Given the description of an element on the screen output the (x, y) to click on. 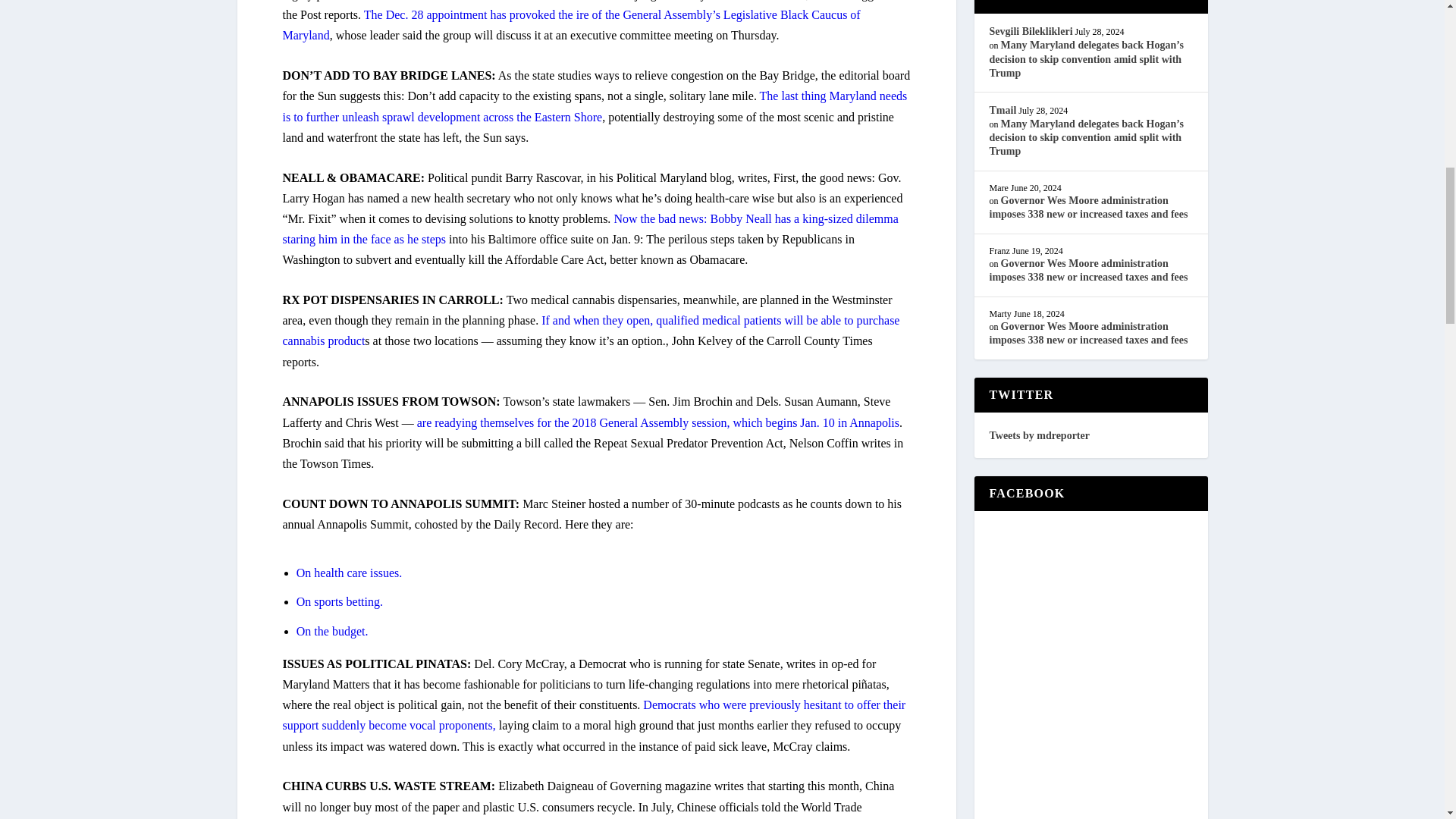
On sports betting. (339, 601)
On health care issues. (350, 572)
On the budget. (332, 631)
